Given the description of an element on the screen output the (x, y) to click on. 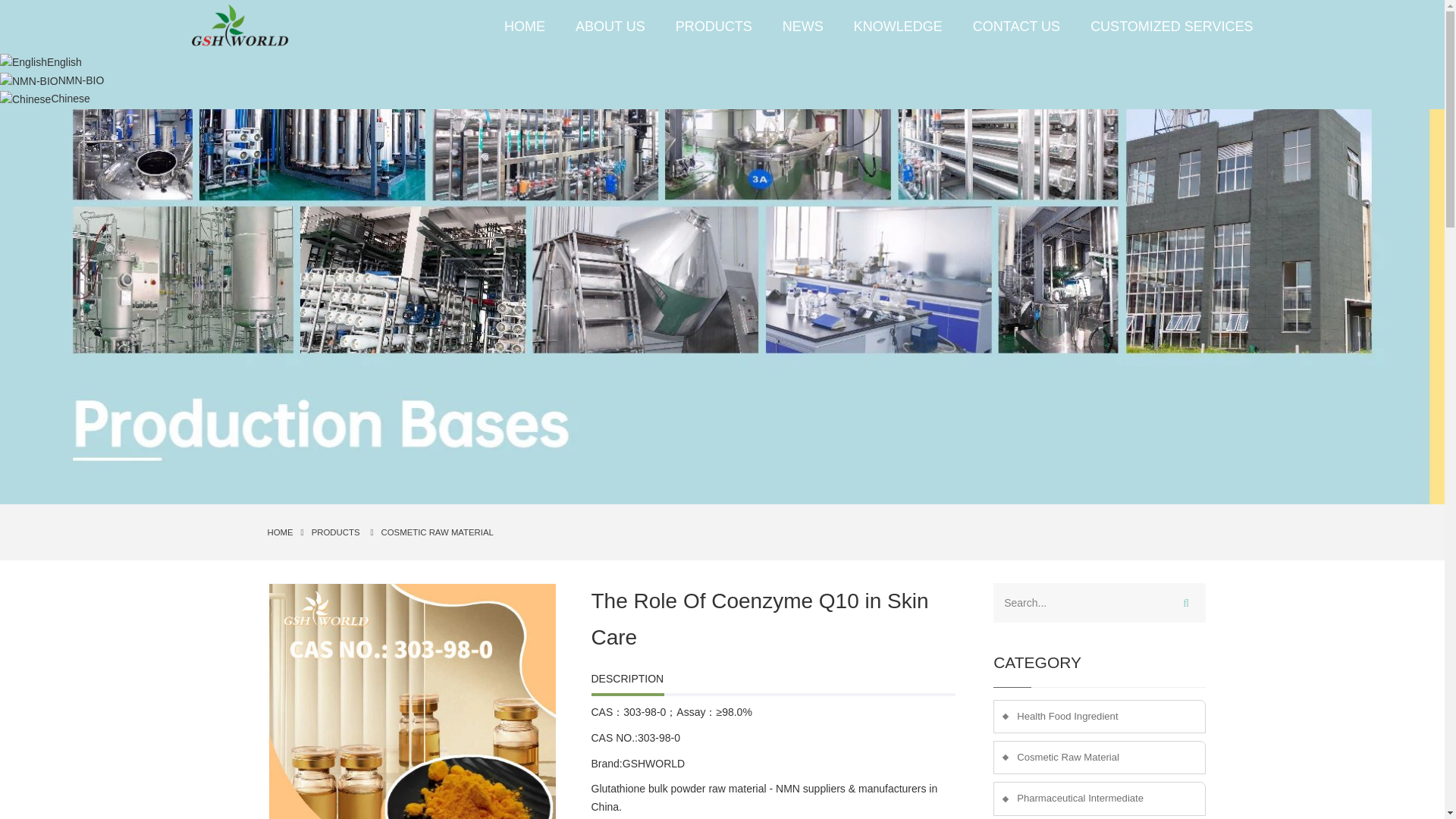
CUSTOMIZED SERVICES (1163, 26)
ABOUT US (610, 26)
Chinese (45, 98)
GSHWORLD (653, 763)
English (40, 61)
NEWS (802, 26)
KNOWLEDGE (898, 26)
CONTACT US (1016, 26)
COSMETIC RAW MATERIAL (437, 532)
PRODUCTS (714, 26)
